Given the description of an element on the screen output the (x, y) to click on. 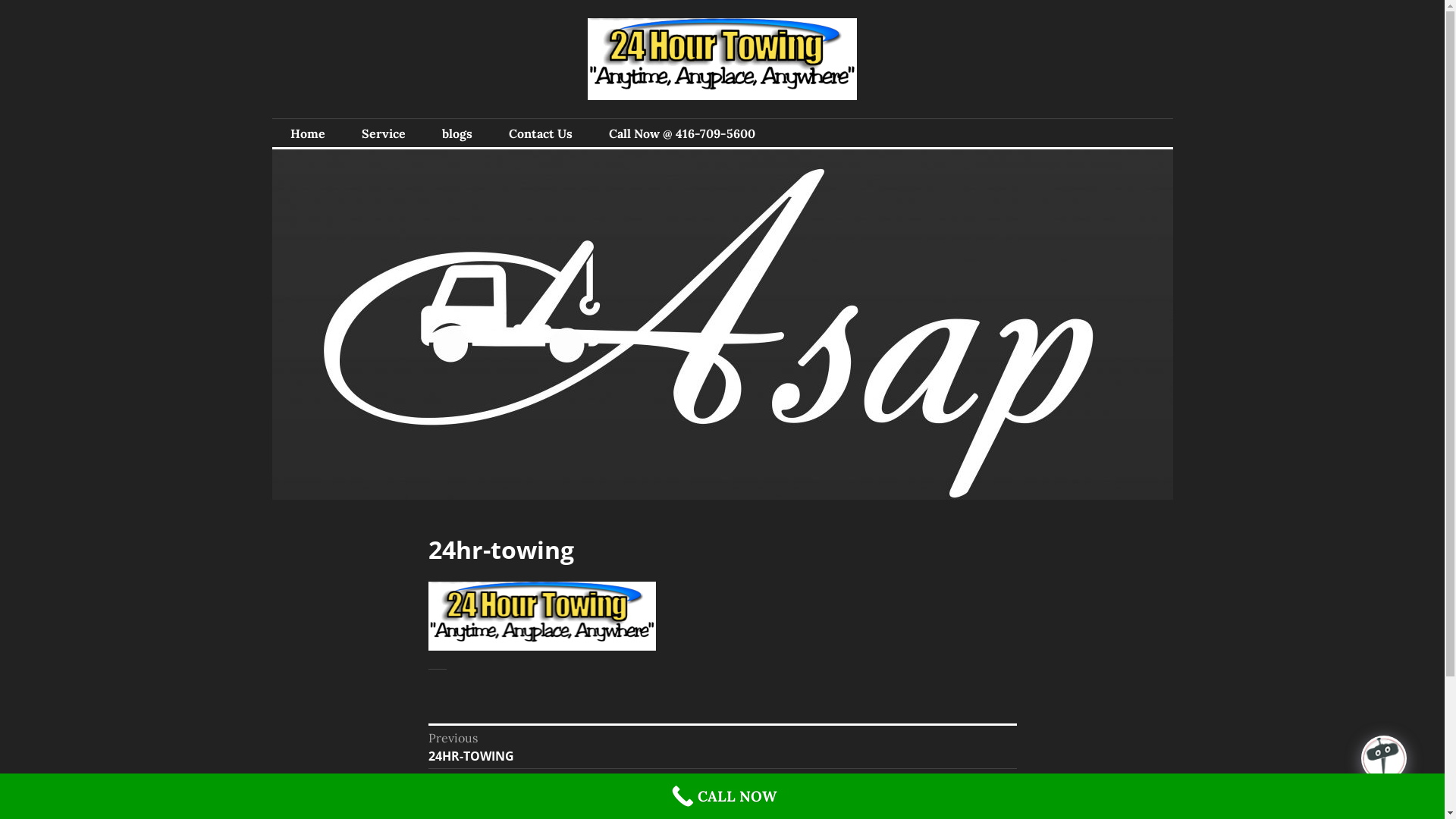
Asap towing inc. Element type: text (394, 117)
blogs Element type: text (456, 133)
Call Now @ 416-709-5600 Element type: text (680, 133)
Contact Us Element type: text (539, 133)
Service Element type: text (382, 133)
Previous
Previous post:
24HR-TOWING Element type: text (721, 746)
Home Element type: text (306, 133)
